Given the description of an element on the screen output the (x, y) to click on. 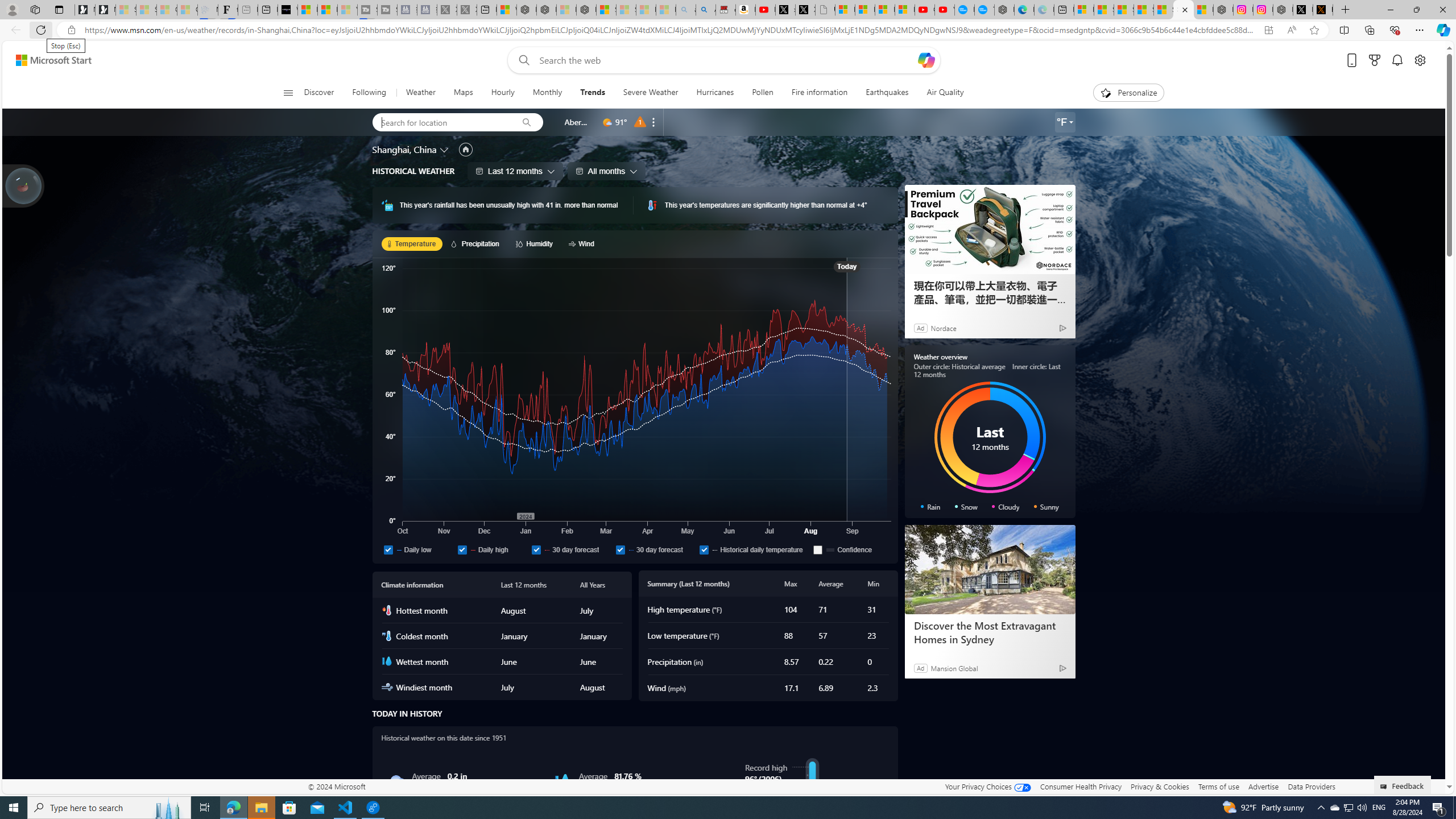
Pollen (762, 92)
Temperature (411, 243)
30 day forecast (655, 549)
Daily high (462, 549)
Microsoft rewards (1374, 60)
Ad Choice (1061, 667)
New tab (1063, 9)
Split screen (1344, 29)
Rain (396, 781)
Pollen (762, 92)
